Given the description of an element on the screen output the (x, y) to click on. 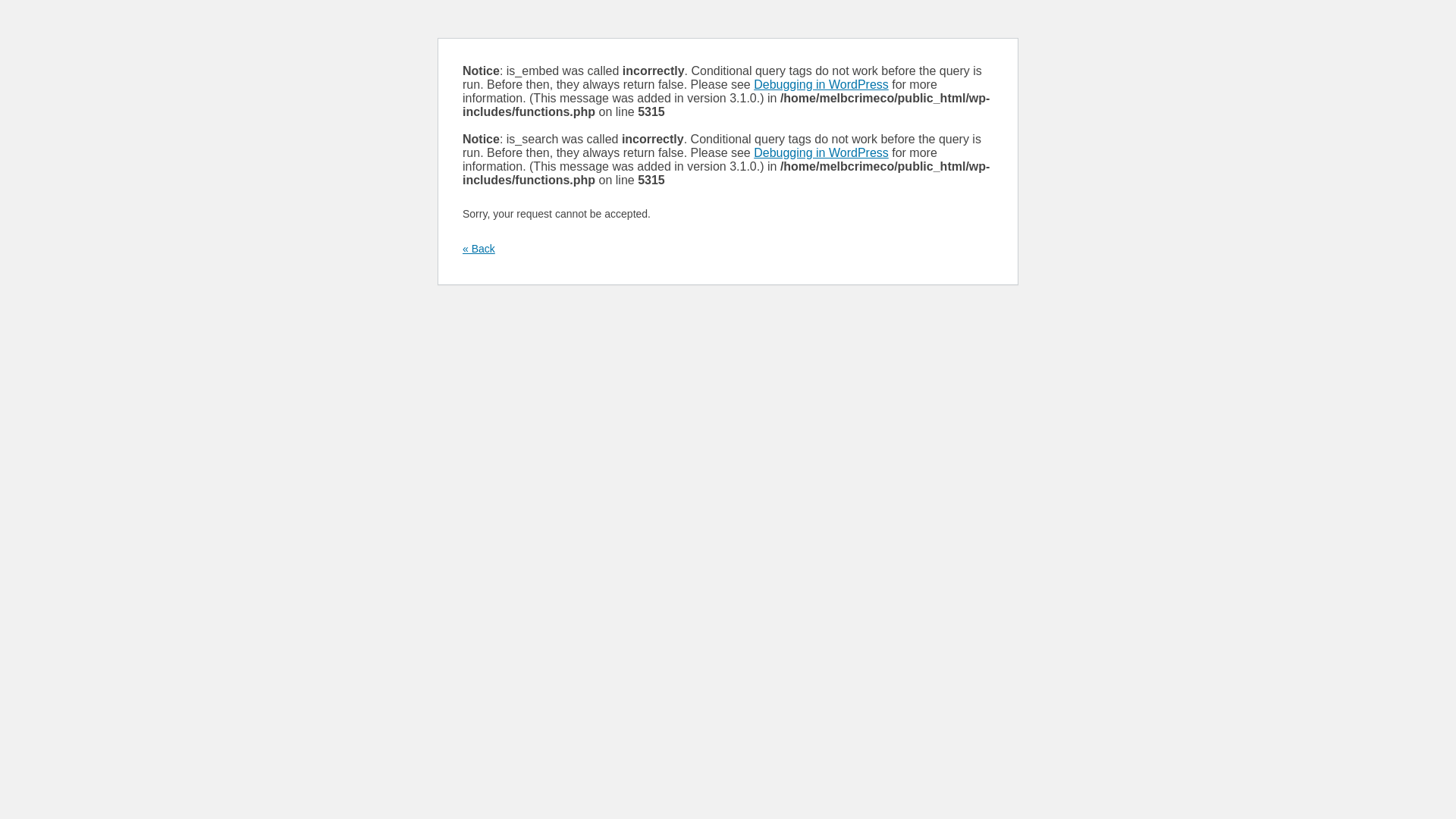
Debugging in WordPress Element type: text (820, 84)
Debugging in WordPress Element type: text (820, 152)
